Given the description of an element on the screen output the (x, y) to click on. 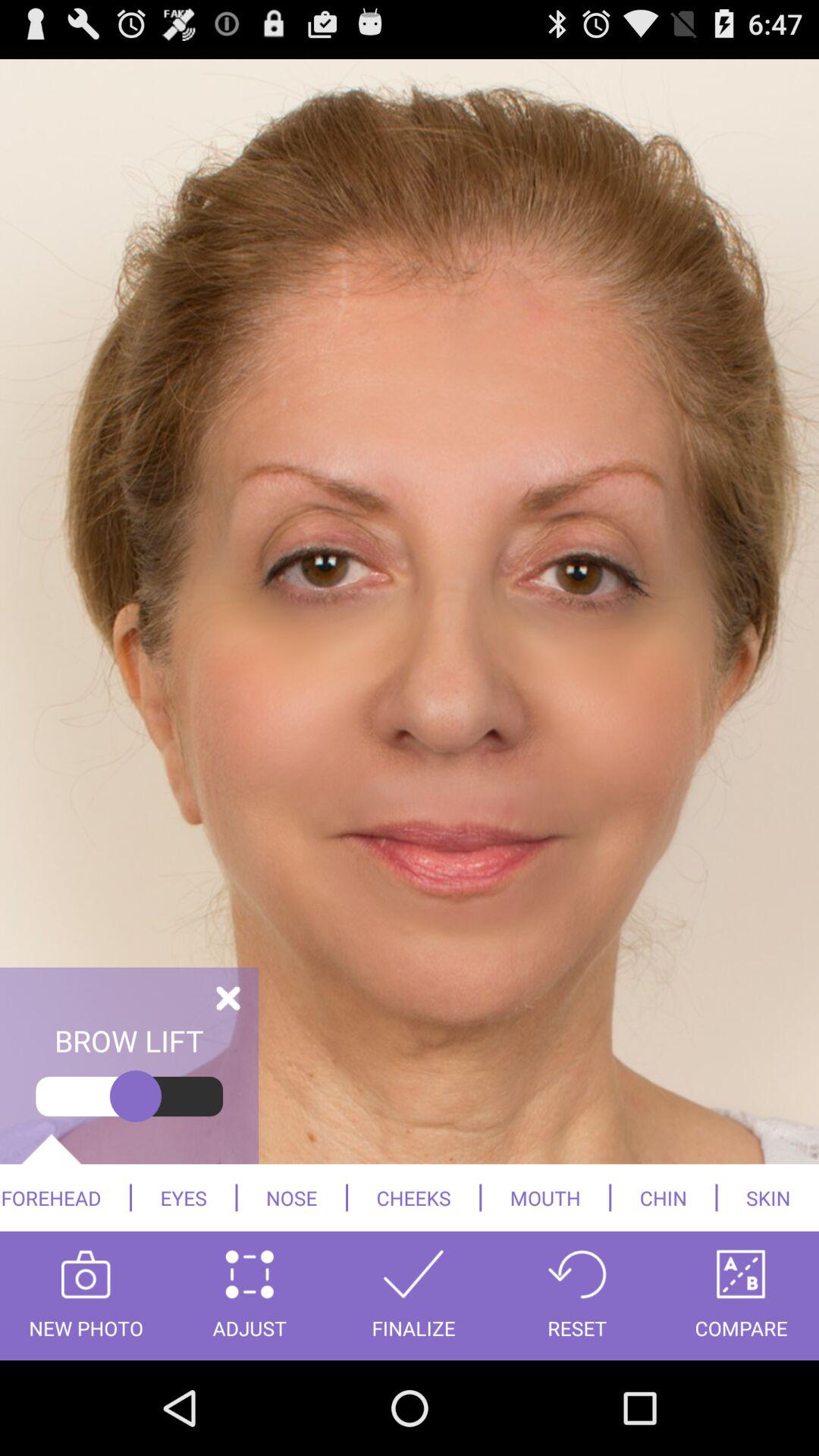
scroll until chin icon (663, 1197)
